Given the description of an element on the screen output the (x, y) to click on. 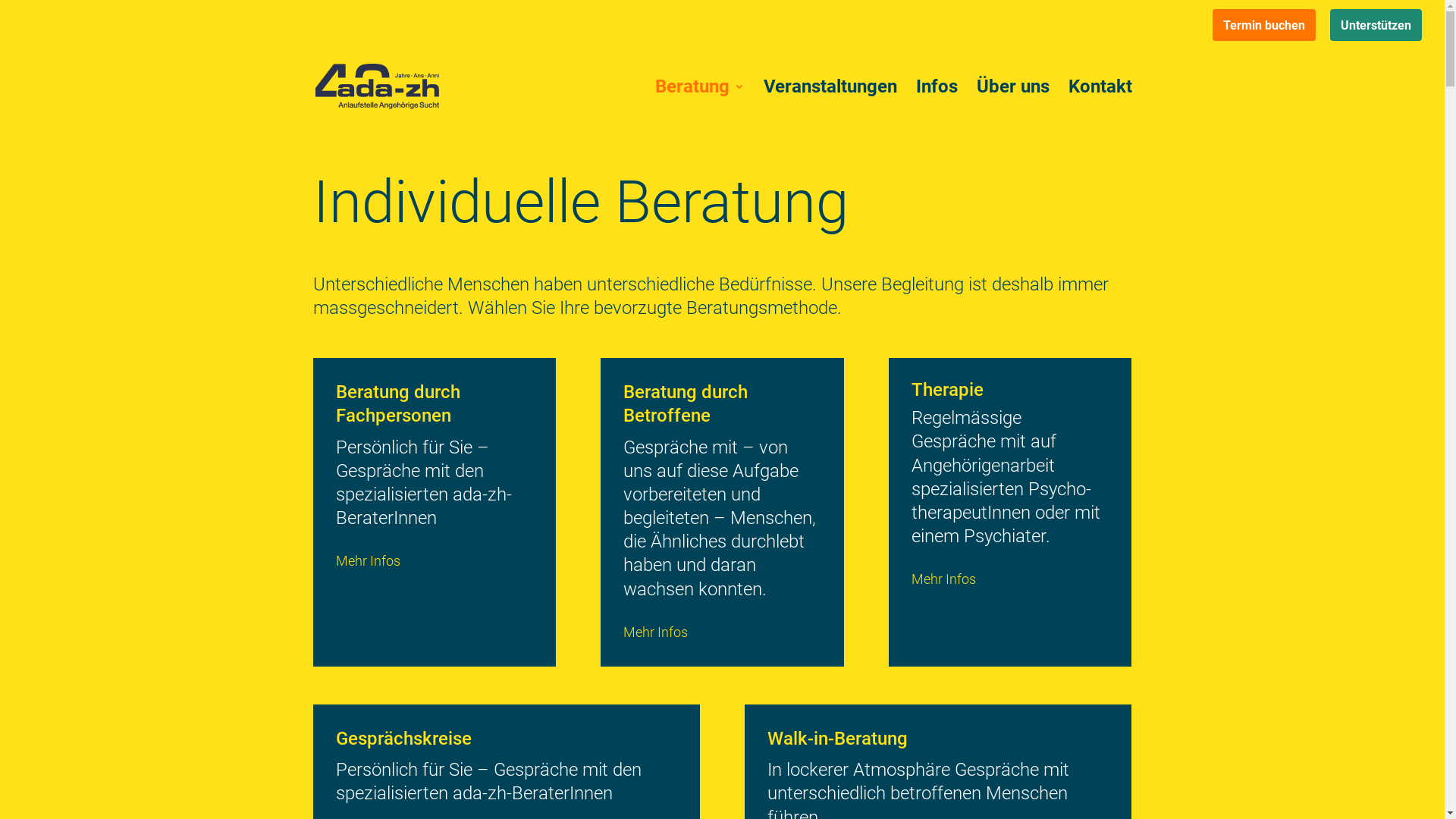
Kontakt Element type: text (1099, 106)
Infos Element type: text (936, 106)
Mehr Infos Element type: text (655, 632)
Beratung Element type: text (699, 106)
Termin buchen Element type: text (1263, 24)
Veranstaltungen Element type: text (829, 106)
Mehr Infos Element type: text (943, 578)
Mehr Infos Element type: text (367, 560)
